Given the description of an element on the screen output the (x, y) to click on. 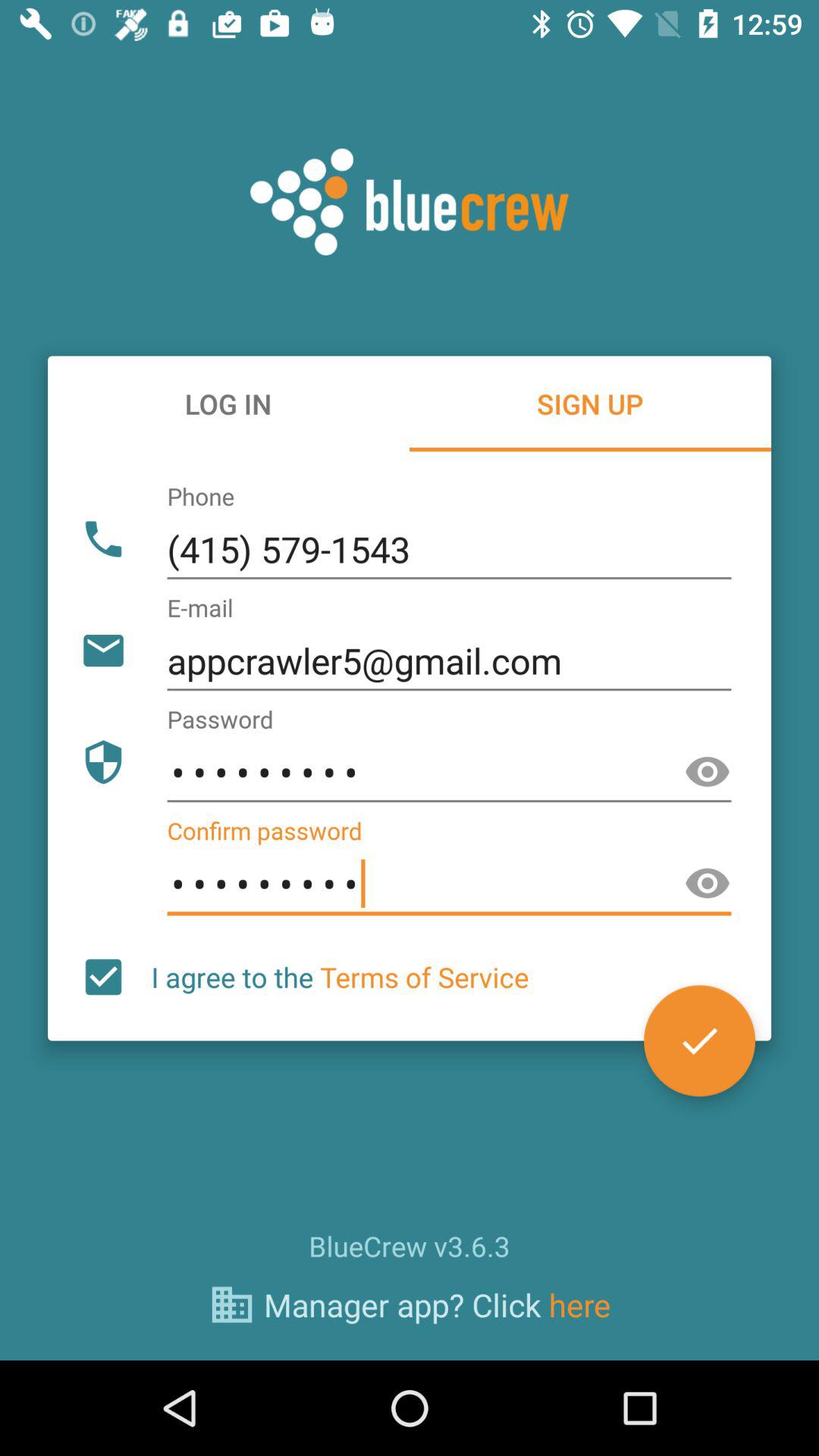
select the icon below crowd3116 item (339, 976)
